Given the description of an element on the screen output the (x, y) to click on. 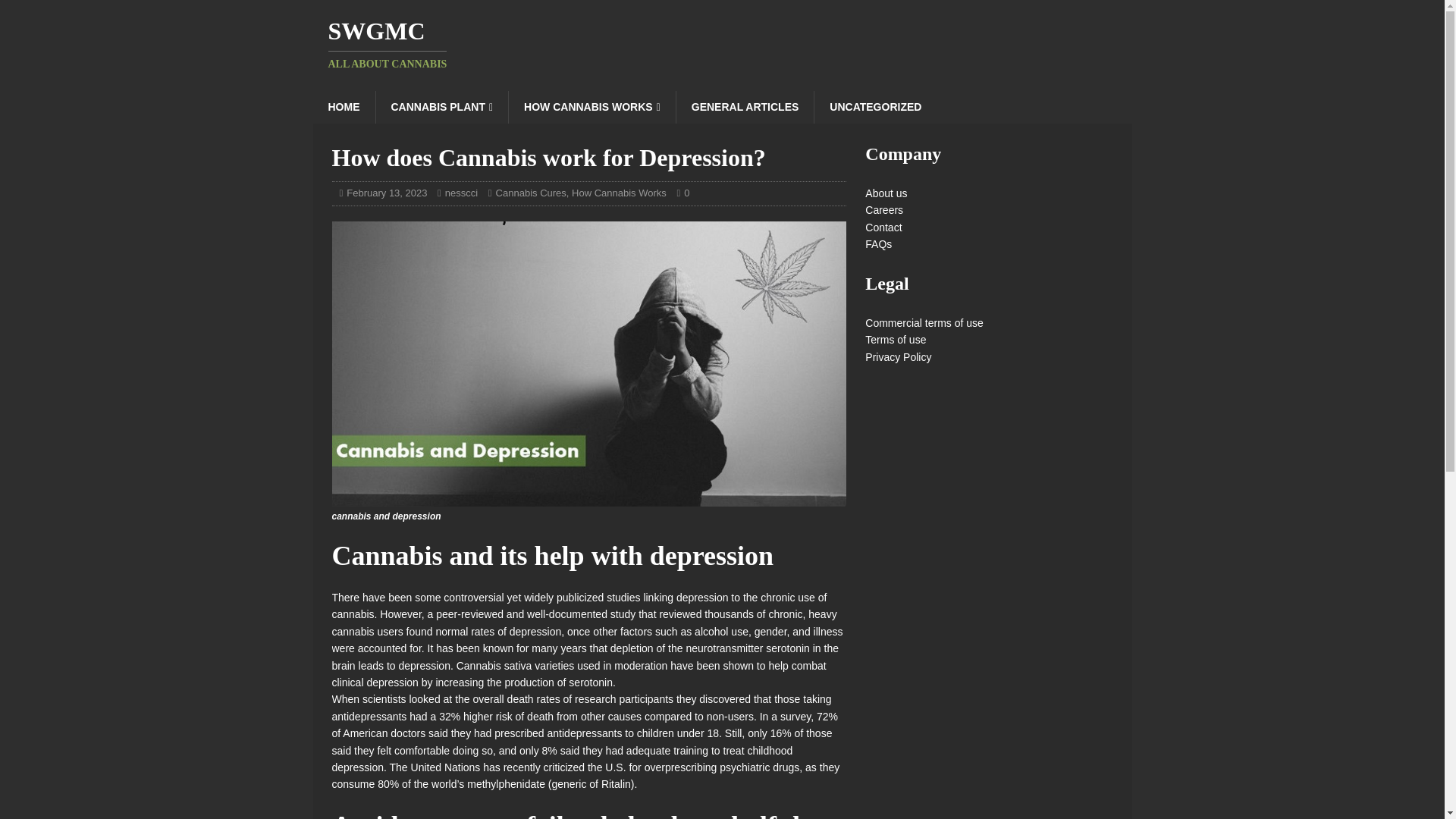
Cannabis Cures (531, 193)
HOME (343, 106)
swgmc (721, 43)
Commercial terms of use (924, 322)
Careers (883, 209)
UNCATEGORIZED (874, 106)
FAQs (877, 244)
February 13, 2023 (386, 193)
About us (885, 193)
HOW CANNABIS WORKS (591, 106)
Contact (882, 227)
How Cannabis Works (721, 43)
GENERAL ARTICLES (619, 193)
nesscci (744, 106)
